Given the description of an element on the screen output the (x, y) to click on. 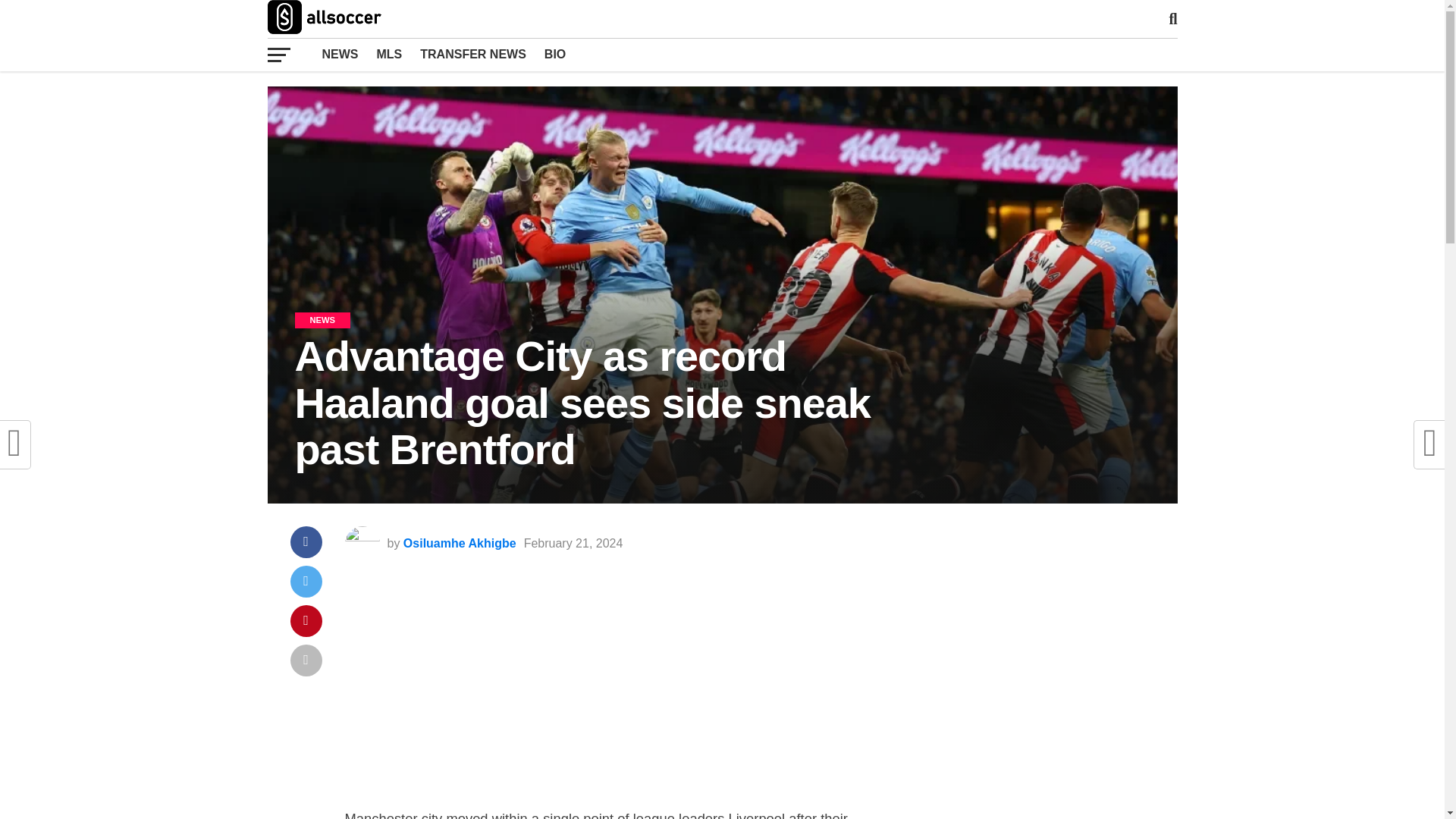
BIO (555, 54)
MLS (388, 54)
Posts by Osiluamhe Akhigbe (459, 543)
Advertisement (604, 695)
TRANSFER NEWS (472, 54)
NEWS (339, 54)
Osiluamhe Akhigbe (459, 543)
